Given the description of an element on the screen output the (x, y) to click on. 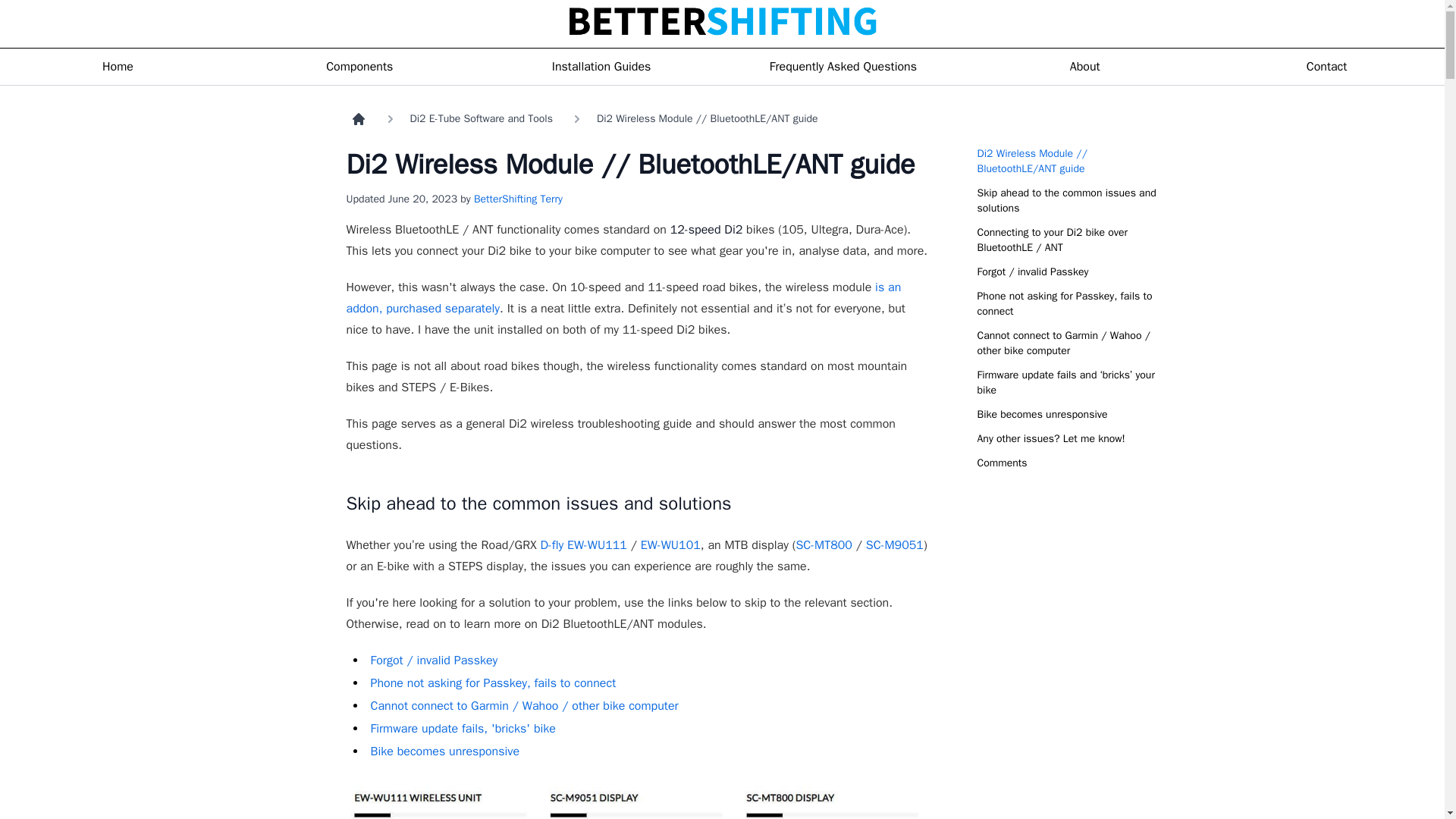
Phone not asking for Passkey, fails to connect (492, 683)
BetterShifting Terry (518, 198)
Home (117, 66)
About (1084, 66)
Di2 E-Tube Software and Tools (480, 118)
D-fly EW-WU111 (583, 544)
Home (357, 118)
Components (359, 66)
Bike becomes unresponsive (444, 751)
EW-WU101 (670, 544)
